Given the description of an element on the screen output the (x, y) to click on. 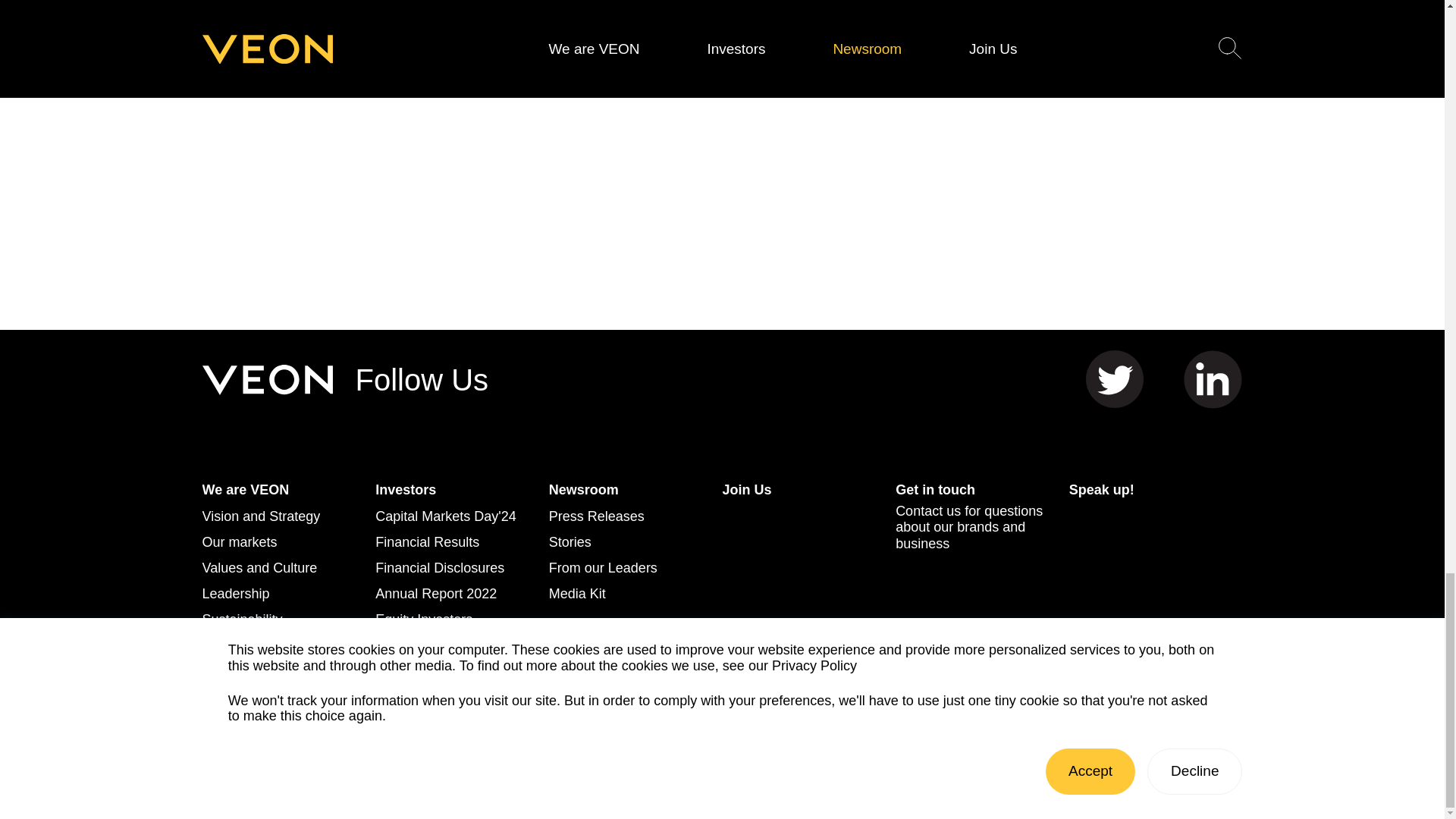
Values and Culture (259, 568)
We are VEON (245, 490)
Our markets (239, 542)
Vision and Strategy (261, 516)
Leadership (235, 594)
